Given the description of an element on the screen output the (x, y) to click on. 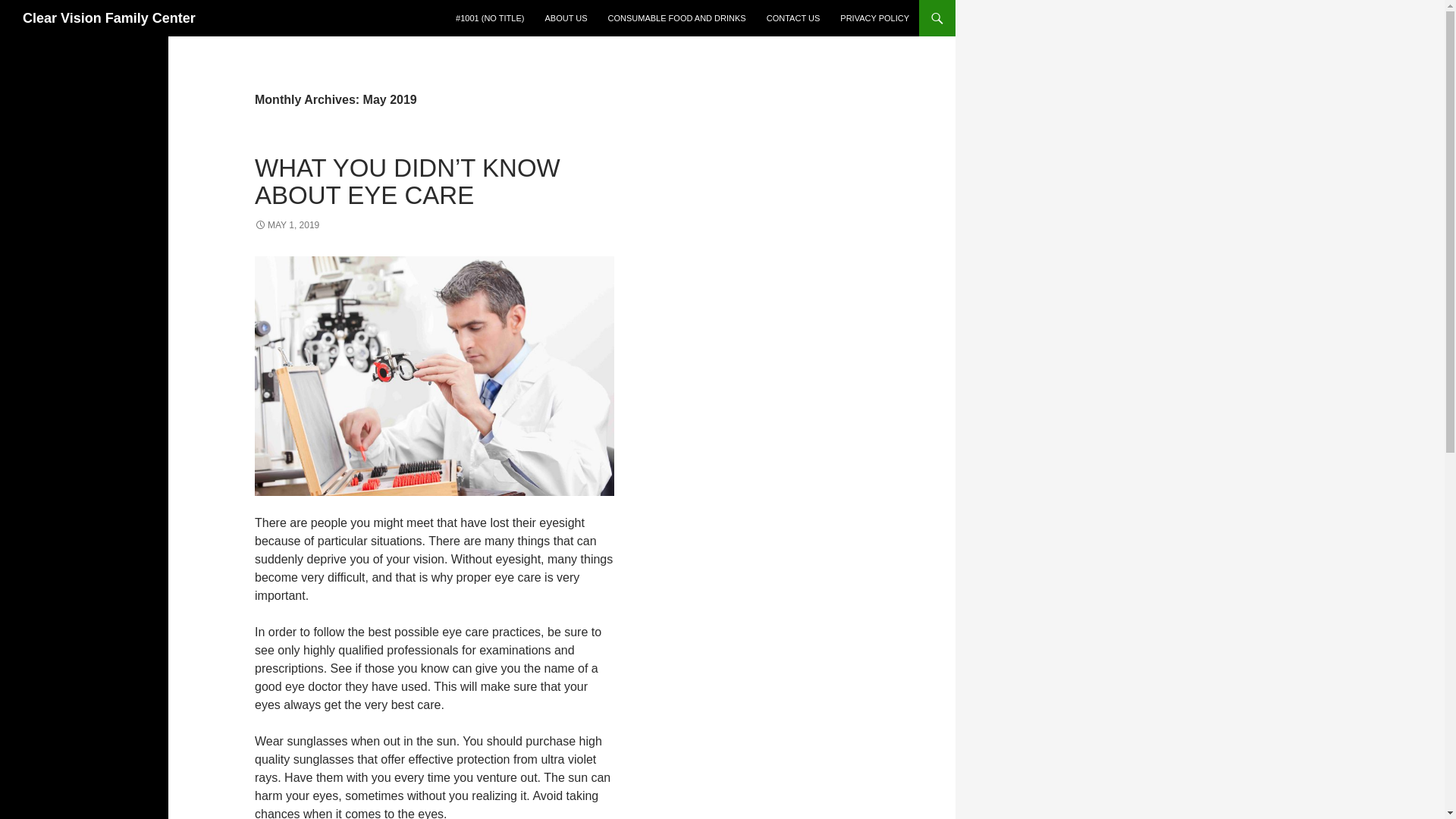
ABOUT US (565, 18)
Clear Vision Family Center (109, 18)
PRIVACY POLICY (874, 18)
CONTACT US (793, 18)
MAY 1, 2019 (286, 225)
CONSUMABLE FOOD AND DRINKS (676, 18)
